Given the description of an element on the screen output the (x, y) to click on. 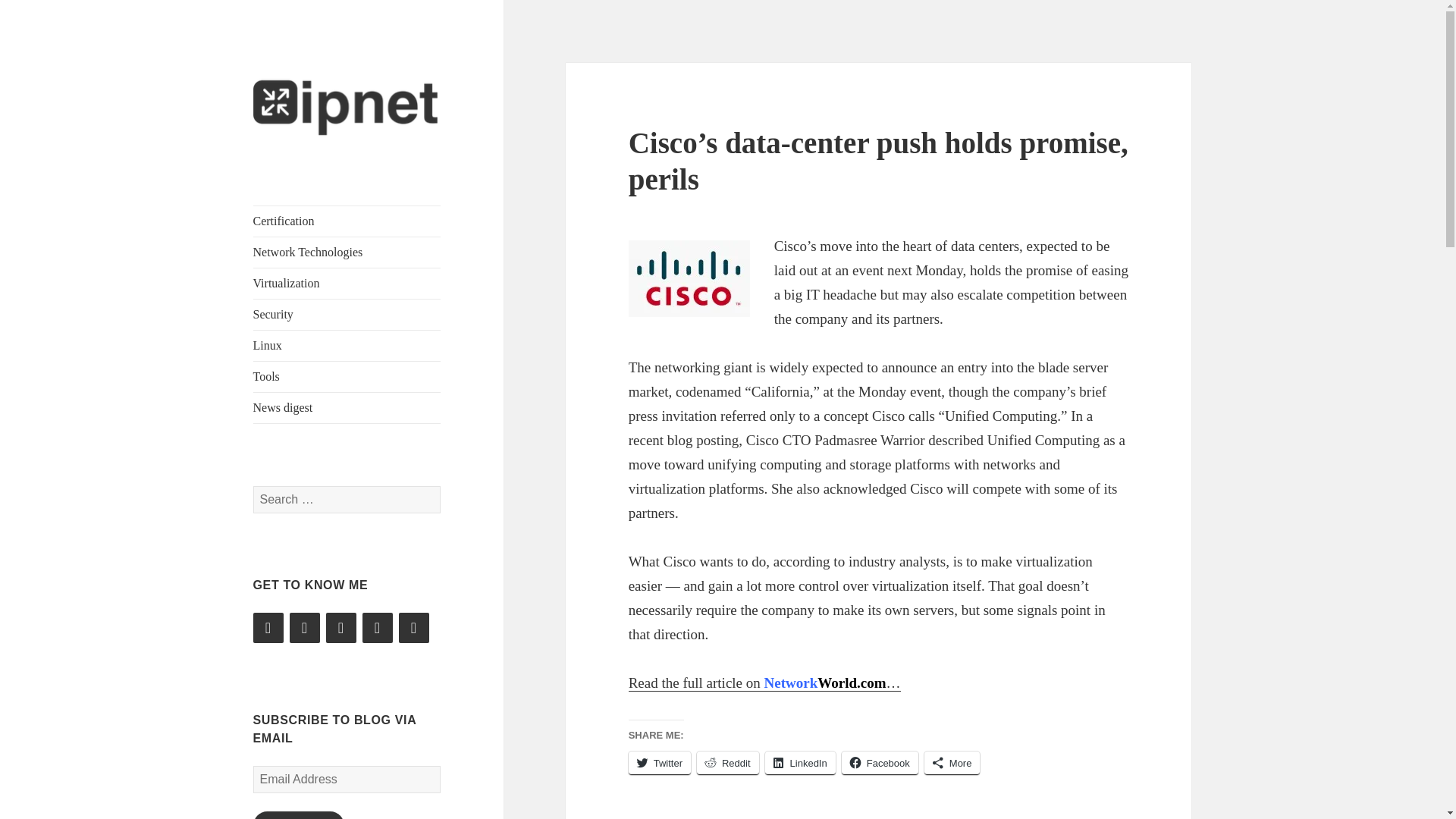
Instagram (341, 627)
IPNET (283, 166)
Click to share on Reddit (727, 762)
Linux (347, 345)
News digest (347, 408)
500px (413, 627)
Click to share on LinkedIn (800, 762)
Click to share on Twitter (659, 762)
Reddit (377, 627)
More (951, 762)
Cisco (688, 278)
SUBSCRIBE (299, 815)
LinkedIn (304, 627)
